Given the description of an element on the screen output the (x, y) to click on. 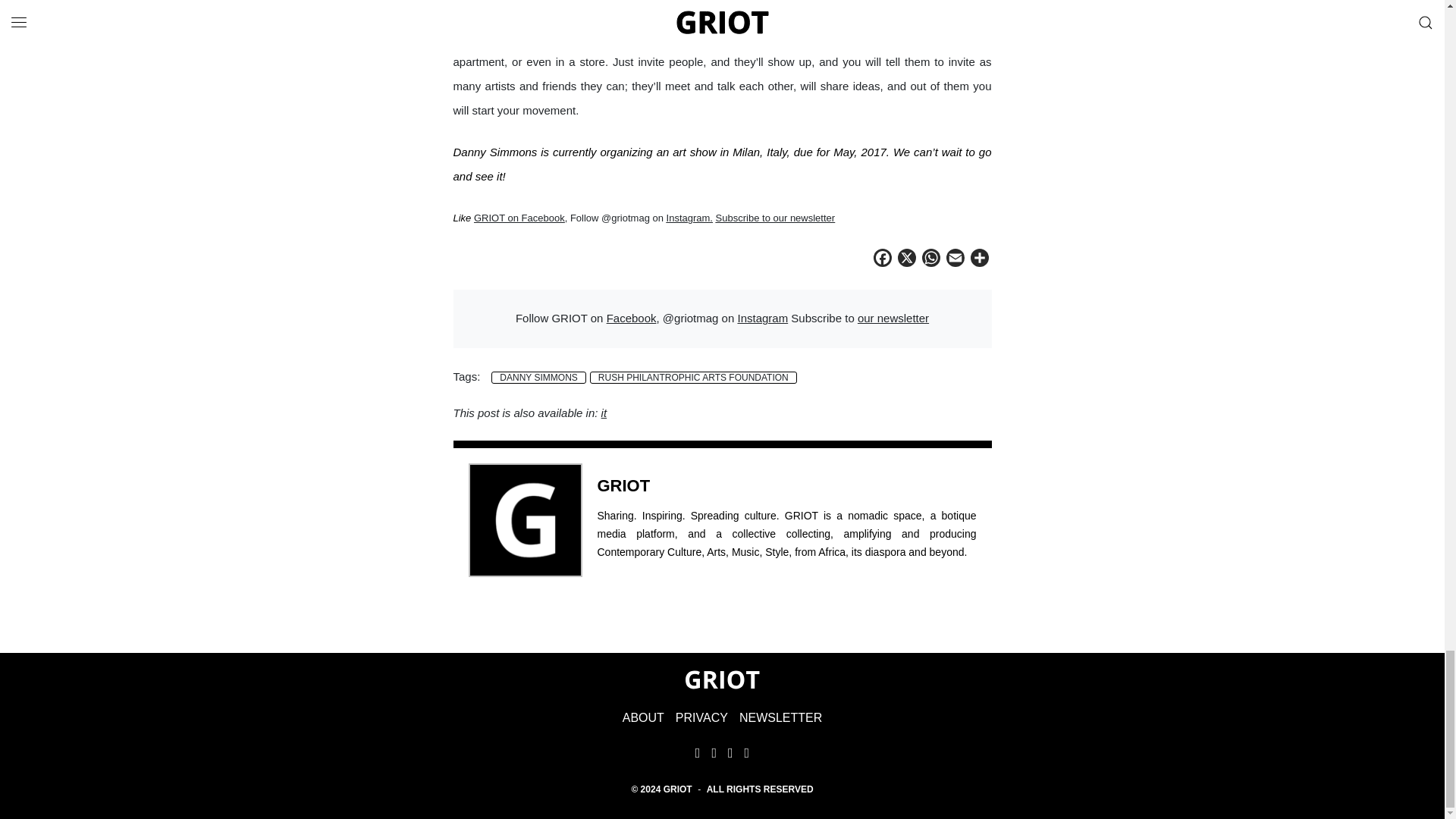
Subscribe to our newsletter (775, 217)
Email (955, 259)
Instagram (761, 318)
Facebook (882, 259)
X (906, 259)
Instagram. (689, 217)
GRIOT on Facebook (519, 217)
Facebook (631, 318)
WhatsApp (930, 259)
